Given the description of an element on the screen output the (x, y) to click on. 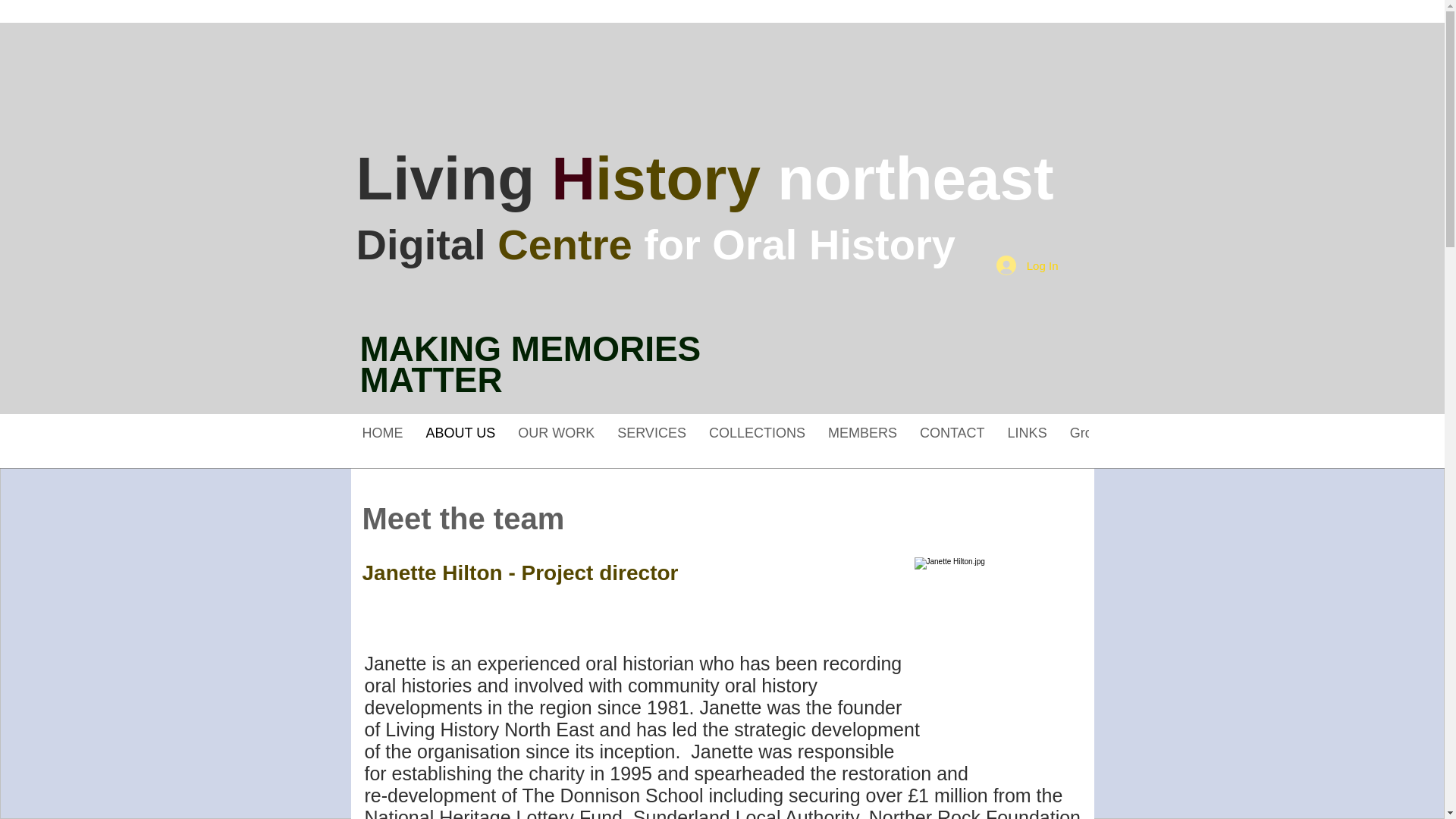
COLLECTIONS (756, 445)
MEMBERS (862, 445)
ABOUT US (459, 445)
CONTACT (951, 445)
Log In (1026, 265)
SERVICES (651, 445)
Groups List (1104, 445)
OUR WORK (555, 445)
HOME (381, 445)
LINKS (1026, 445)
